Given the description of an element on the screen output the (x, y) to click on. 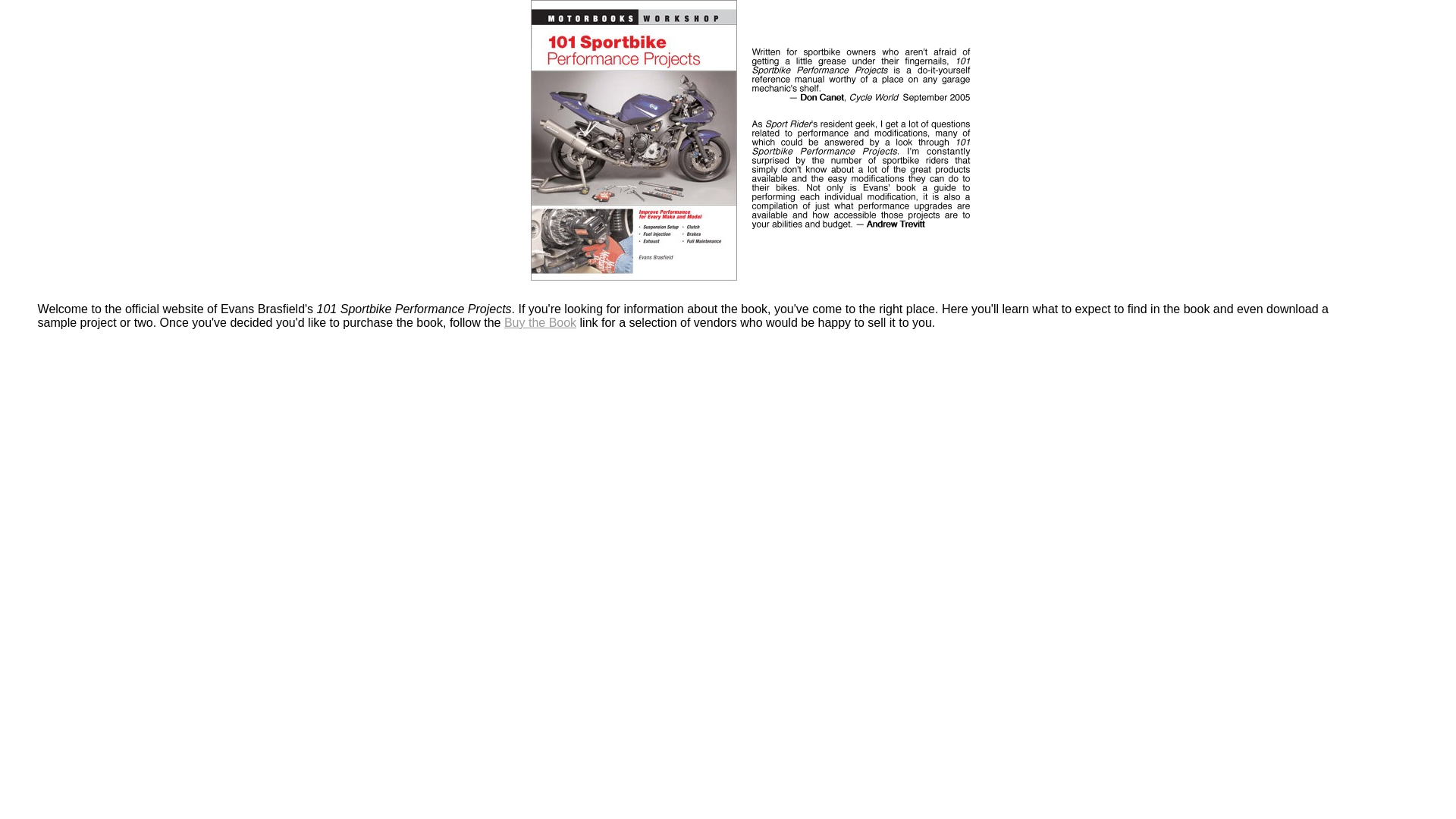
Buy the Book Element type: text (540, 322)
